Given the description of an element on the screen output the (x, y) to click on. 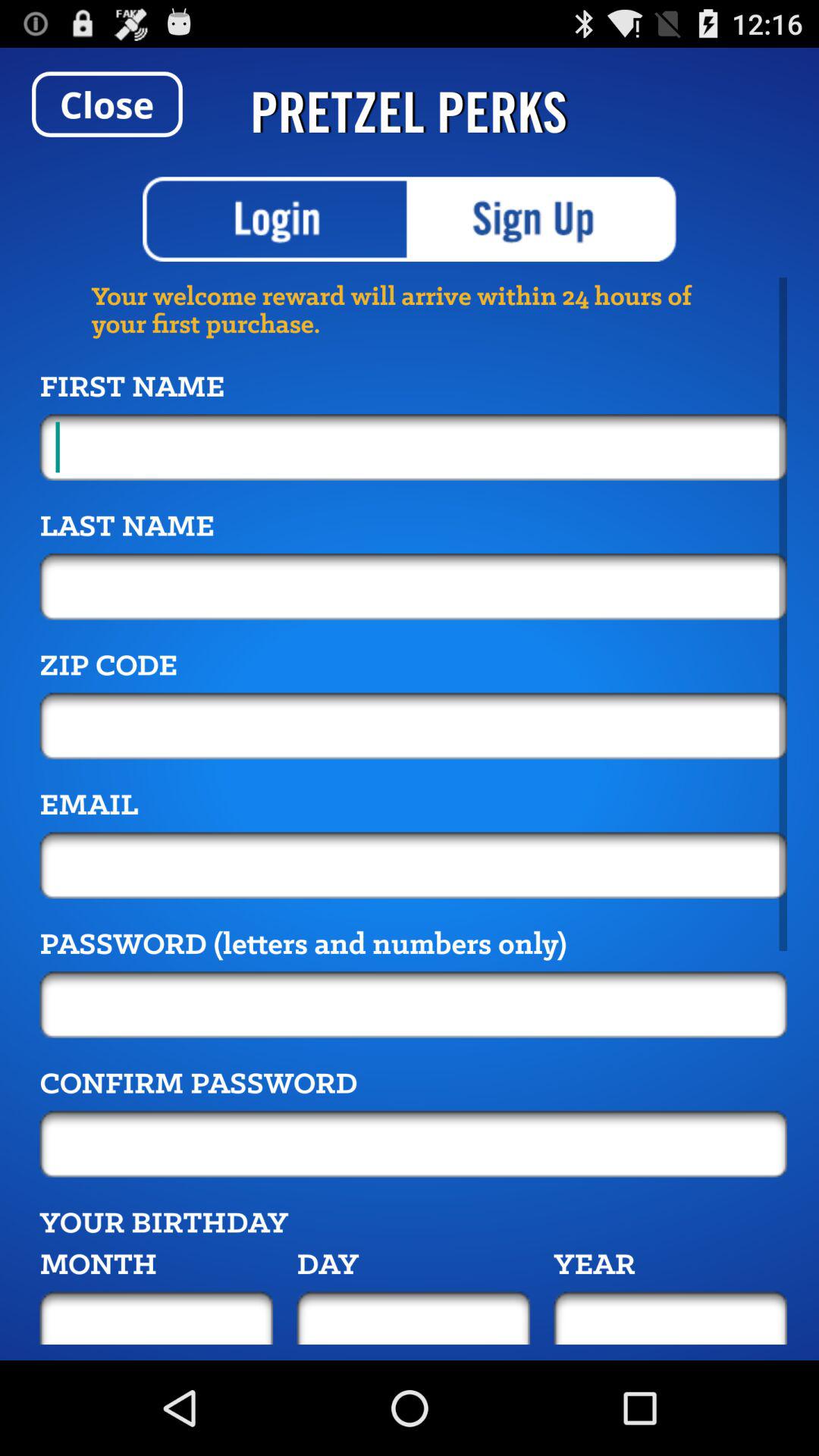
type in your new password here the same as the box before (413, 1143)
